Given the description of an element on the screen output the (x, y) to click on. 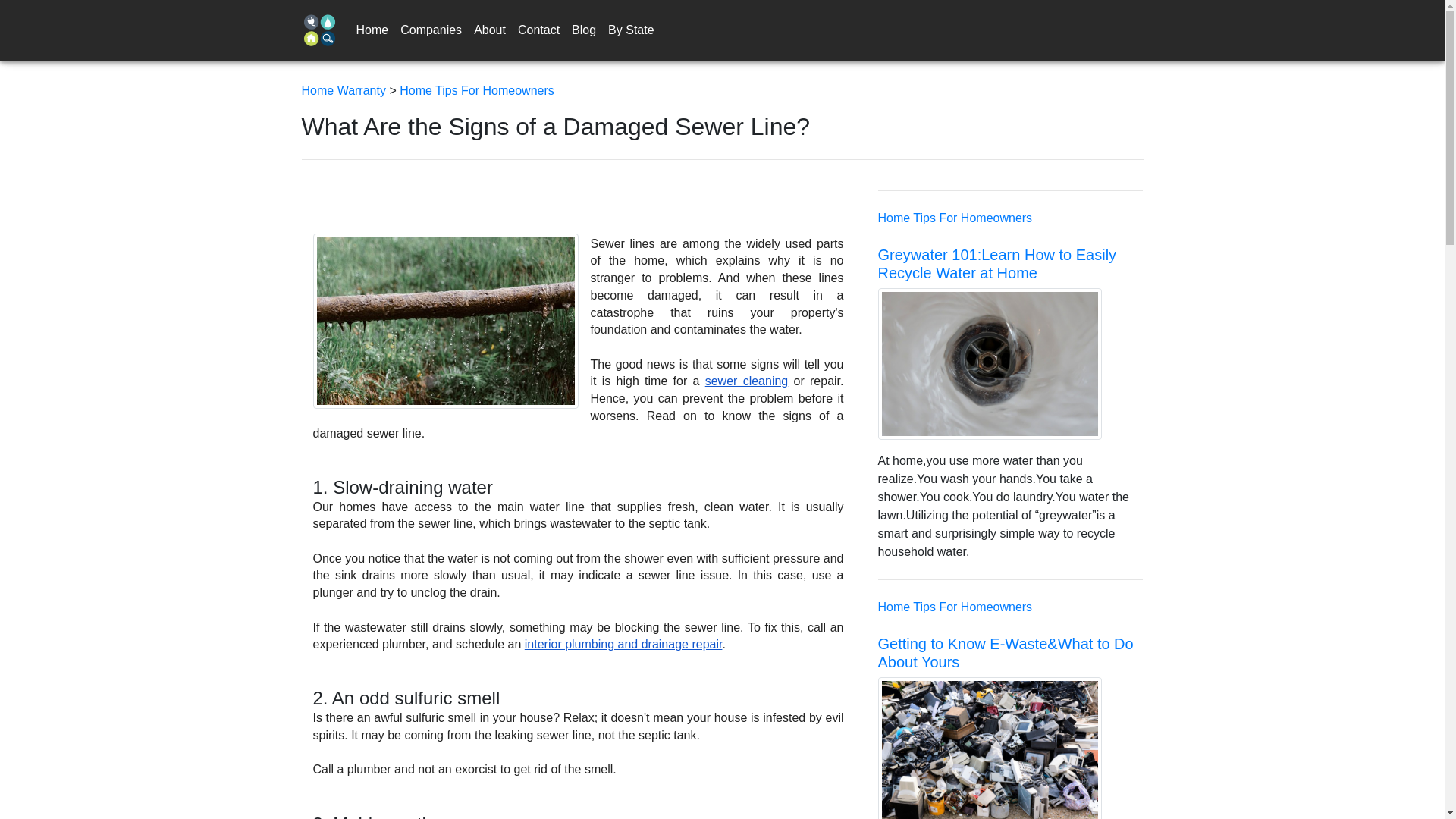
Companies (430, 30)
Home Tips For Homeowners (476, 90)
Contact (539, 30)
About (489, 30)
Home Tips For Homeowners (954, 606)
By State (630, 30)
Blog (584, 30)
Greywater 101:Learn How to Easily Recycle Water at Home (996, 263)
interior plumbing and drainage repair (623, 644)
Home Warranty (345, 90)
Home Tips For Homeowners (954, 217)
sewer cleaning (746, 380)
